Given the description of an element on the screen output the (x, y) to click on. 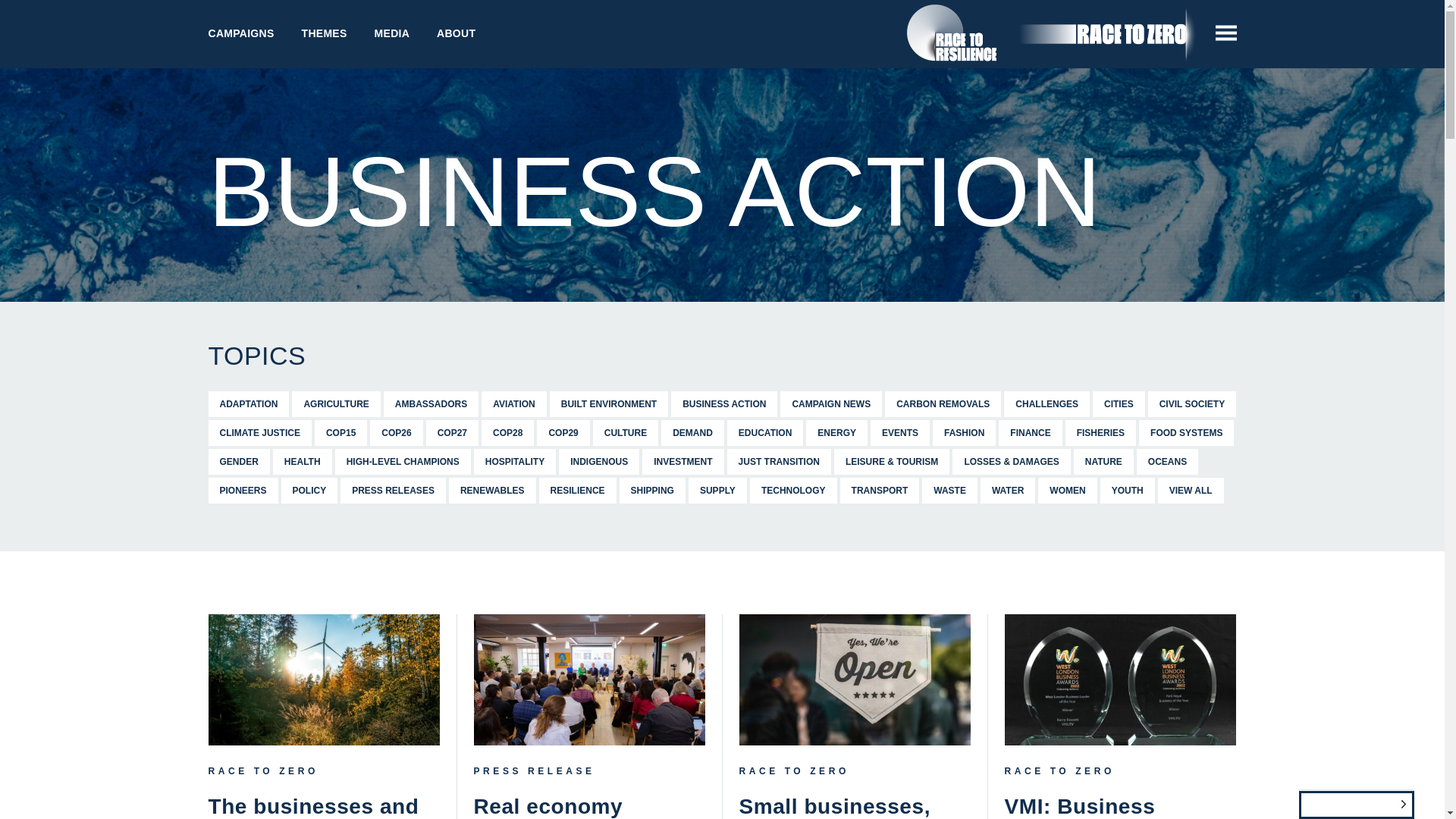
ABOUT (456, 33)
THEMES (324, 33)
CAMPAIGNS (240, 33)
MEDIA (392, 33)
